Given the description of an element on the screen output the (x, y) to click on. 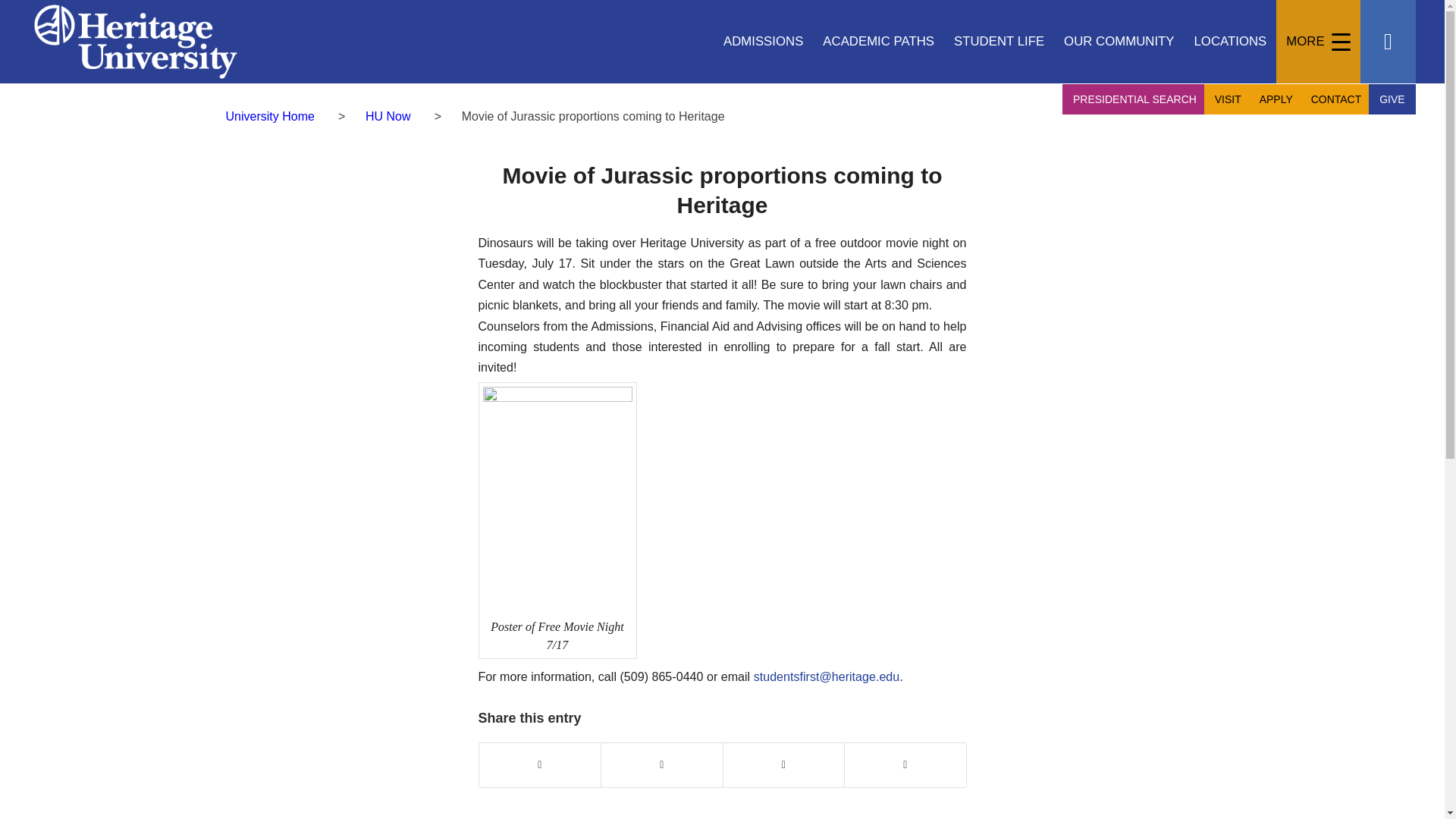
OUR COMMUNITY (1118, 41)
ACADEMIC PATHS (877, 41)
MORE   (1317, 41)
LOCATIONS (1230, 41)
STUDENT LIFE (998, 41)
HU3-Logo-White (135, 41)
Go to Heritage University. (269, 115)
Go to the HU Now category archives. (387, 115)
ADMISSIONS (762, 41)
